Given the description of an element on the screen output the (x, y) to click on. 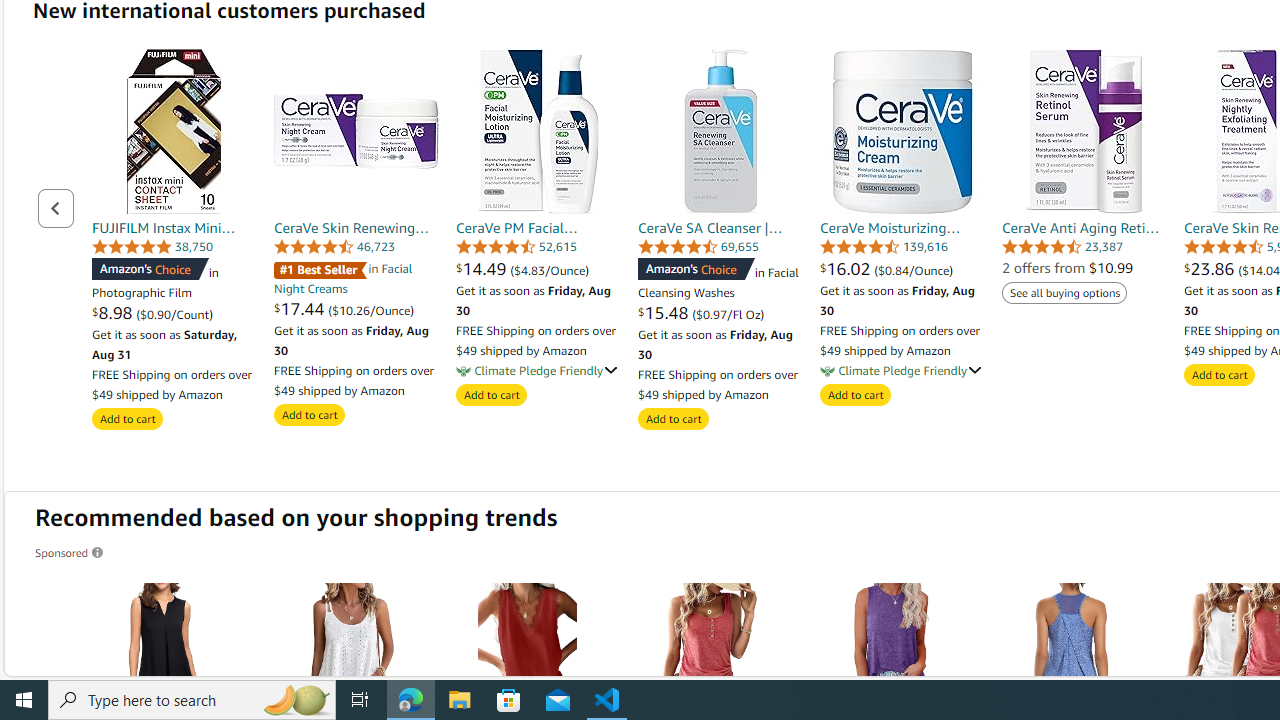
2 offers from $10.99 (1068, 268)
Class: a-link-normal a-text-normal (902, 268)
Class: a-link-normal (1084, 228)
$16.02  (847, 268)
Previous page (56, 208)
$23.86  (1211, 268)
Add to cart (1219, 375)
($0.84/Ounce) (913, 269)
